Given the description of an element on the screen output the (x, y) to click on. 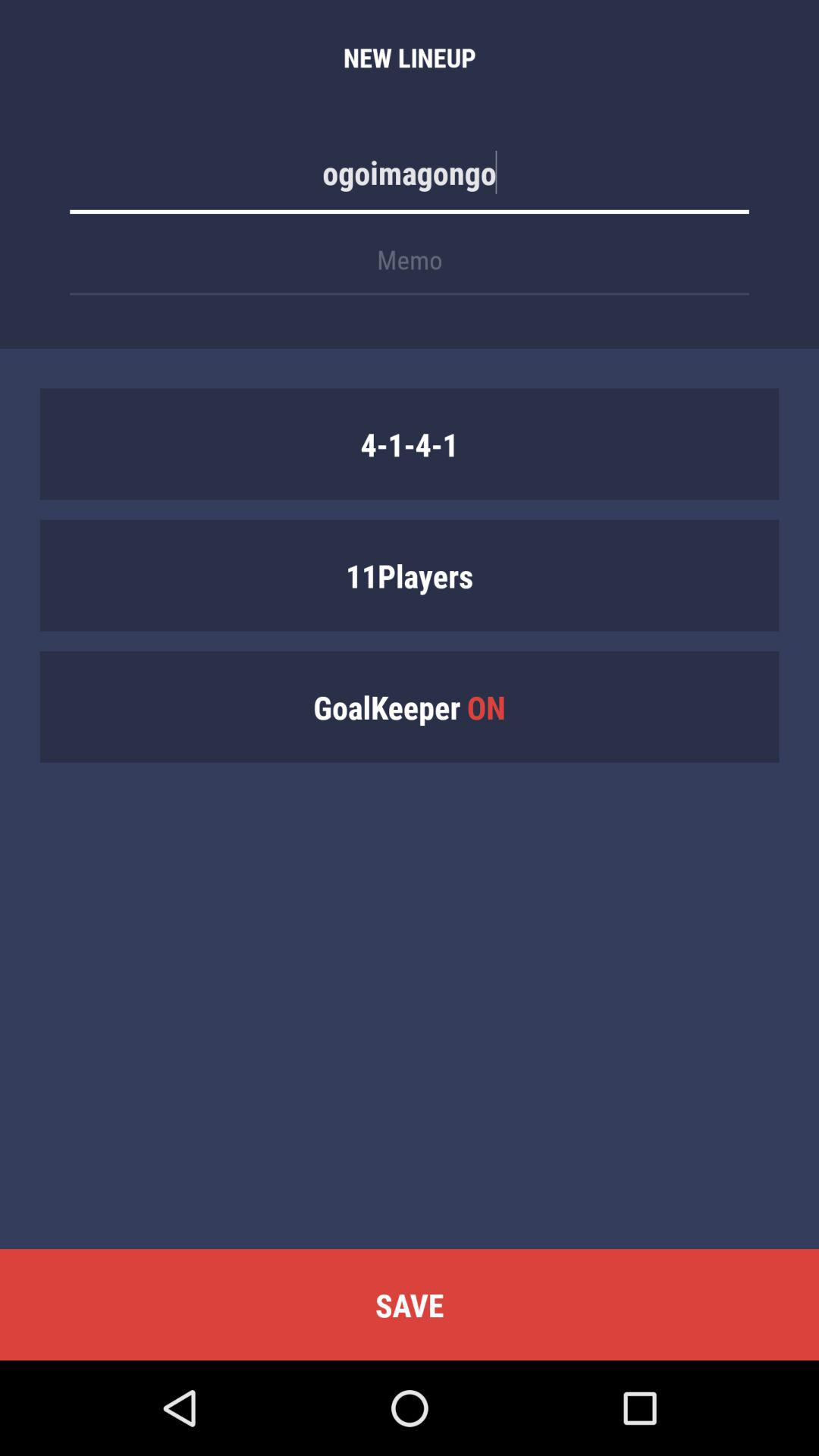
press the item below ogoimagongo icon (409, 266)
